Given the description of an element on the screen output the (x, y) to click on. 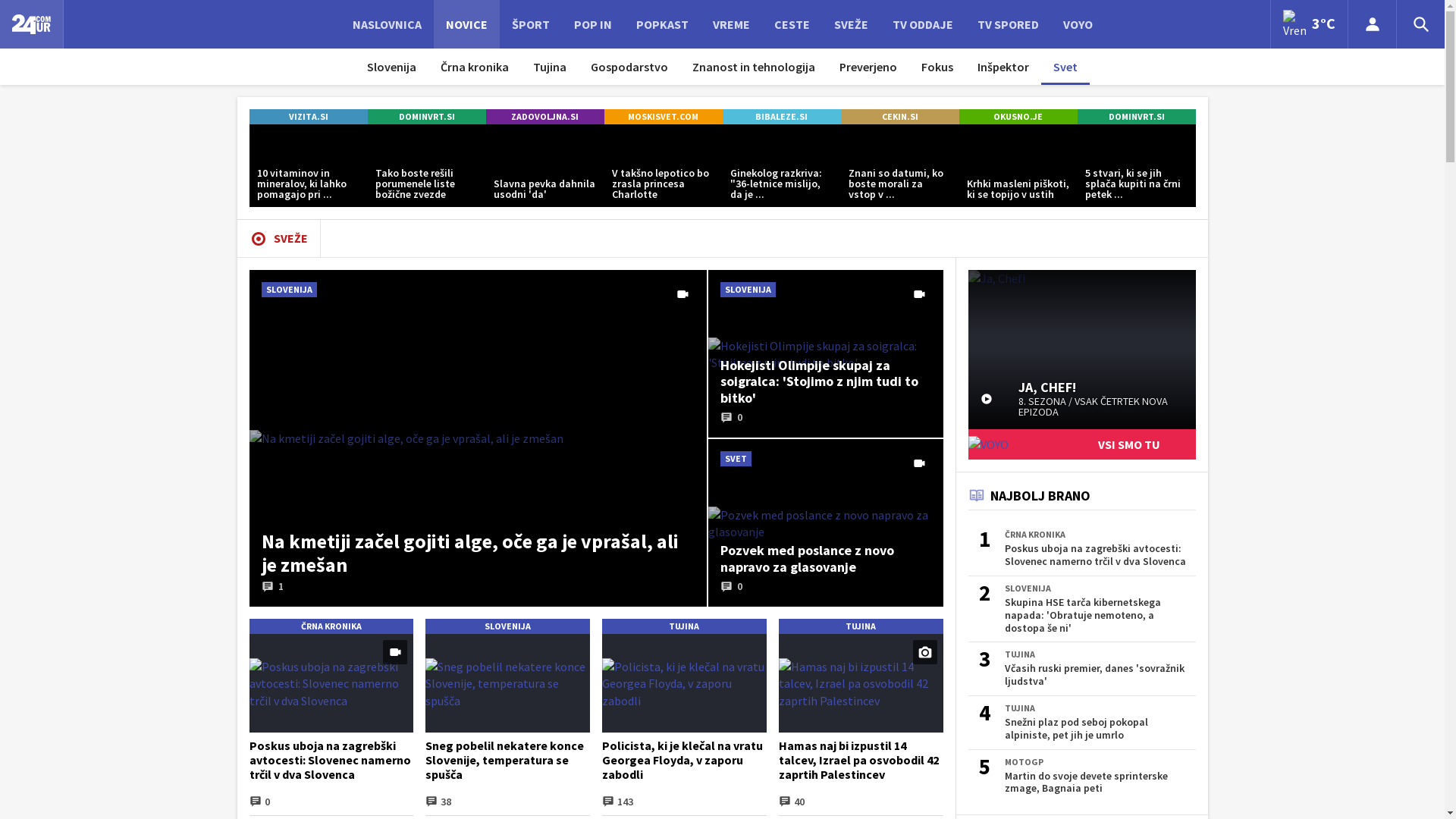
DOMINVRT.SI Element type: text (426, 116)
SVET
Pozvek med poslance z novo napravo za glasovanje
0 Element type: text (825, 522)
Svet Element type: text (1065, 66)
ZADOVOLJNA.SI Element type: text (544, 116)
BIBALEZE.SI Element type: text (780, 116)
TV SPORED Element type: text (1007, 24)
Tujina Element type: text (549, 66)
POPKAST Element type: text (661, 24)
NOVICE Element type: text (466, 24)
VREME Element type: text (731, 24)
VOYO Element type: text (1077, 24)
Fokus Element type: text (937, 66)
NASLOVNICA Element type: text (386, 24)
Znanost in tehnologija Element type: text (753, 66)
VSI SMO TU Element type: text (1081, 444)
POP IN Element type: text (592, 24)
Znani so datumi, ko boste morali za vstop v ... Element type: text (899, 165)
Preverjeno Element type: text (868, 66)
CESTE Element type: text (791, 24)
Slavna pevka dahnila usodni 'da' Element type: text (544, 165)
VIZITA.SI Element type: text (307, 116)
10 vitaminov in mineralov, ki lahko pomagajo pri ... Element type: text (307, 165)
CEKIN.SI Element type: text (899, 116)
MOSKISVET.COM Element type: text (662, 116)
DOMINVRT.SI Element type: text (1135, 116)
Slovenija Element type: text (391, 66)
Ginekolog razkriva: "36-letnice mislijo, da je ... Element type: text (780, 165)
TV ODDAJE Element type: text (921, 24)
OKUSNO.JE Element type: text (1017, 116)
Gospodarstvo Element type: text (629, 66)
